Given the description of an element on the screen output the (x, y) to click on. 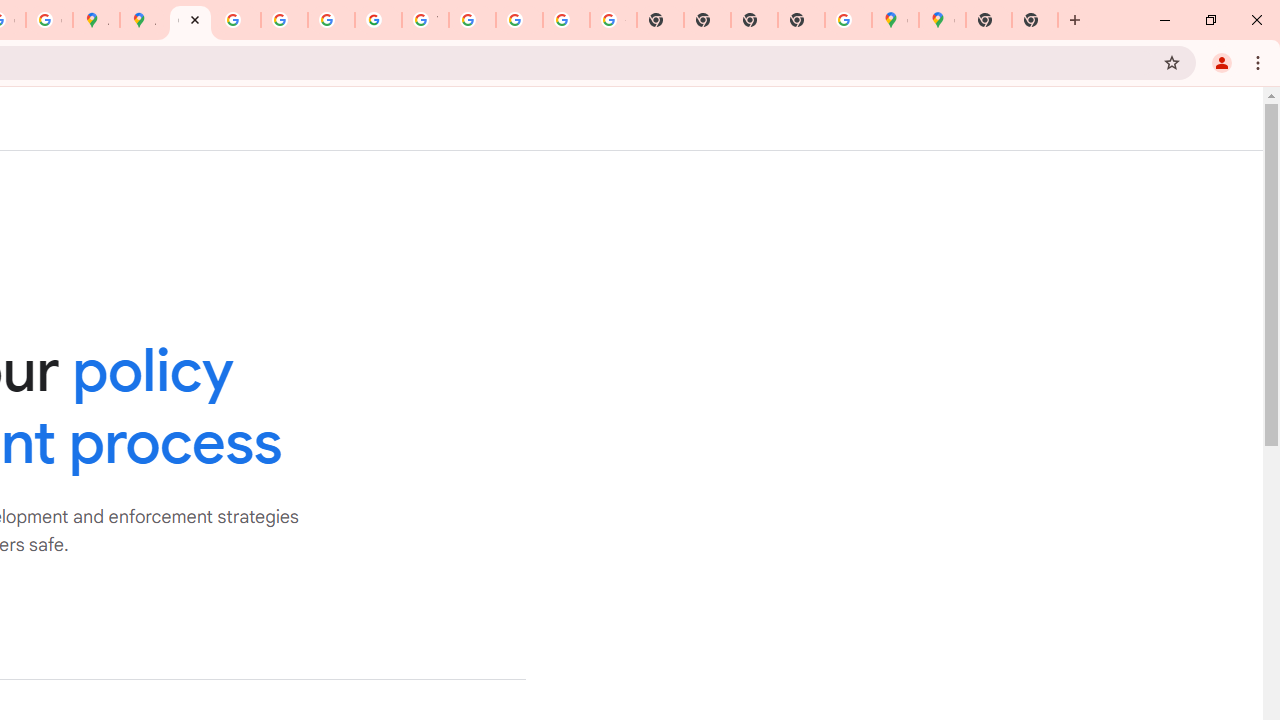
Use Google Maps in Space - Google Maps Help (848, 20)
YouTube (425, 20)
Privacy Help Center - Policies Help (284, 20)
Privacy Help Center - Policies Help (237, 20)
